Given the description of an element on the screen output the (x, y) to click on. 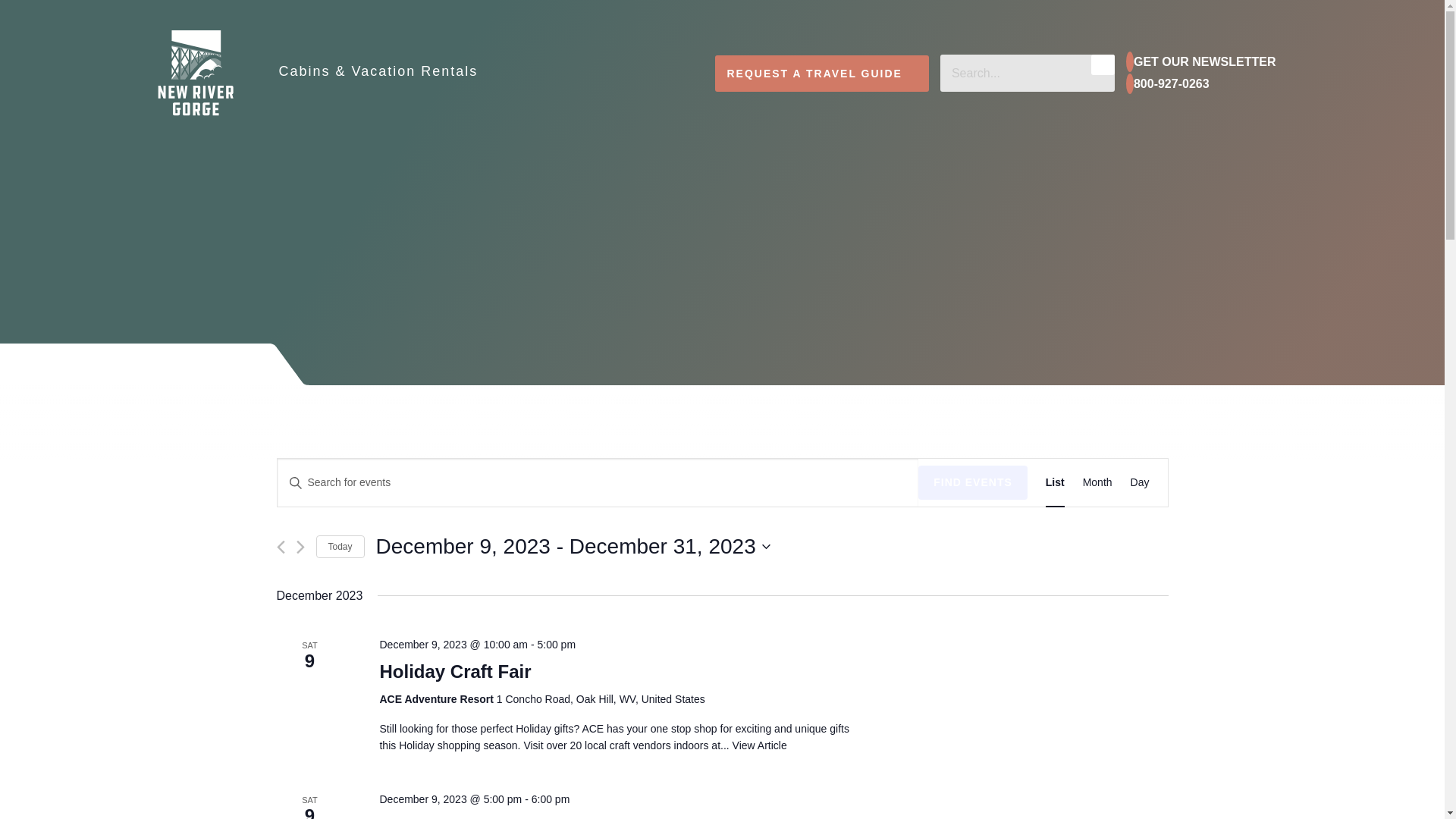
Holiday Craft Fair (454, 671)
Click to toggle datepicker (572, 546)
Click to select today's date (339, 546)
